Given the description of an element on the screen output the (x, y) to click on. 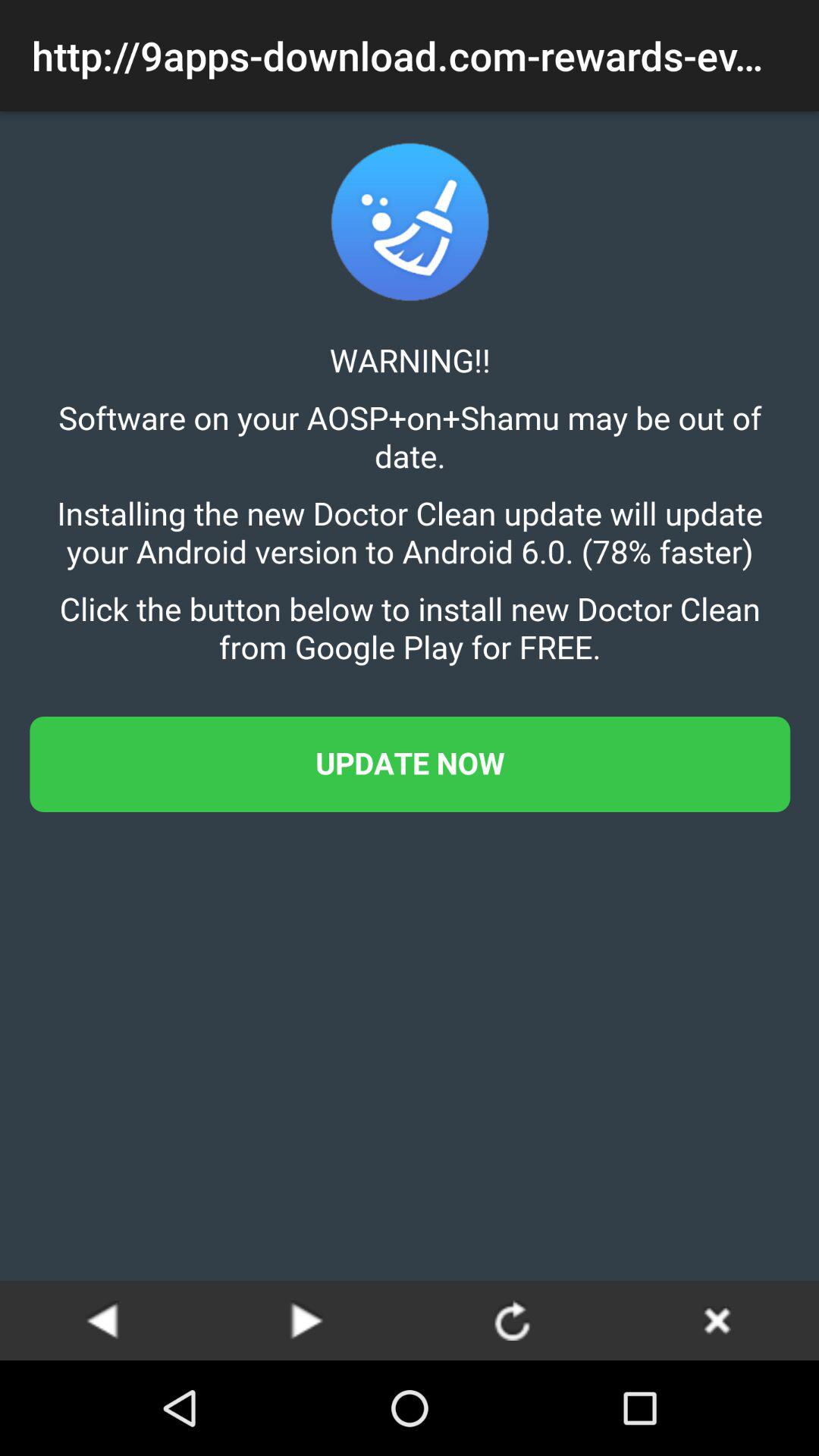
close the page (716, 1320)
